Given the description of an element on the screen output the (x, y) to click on. 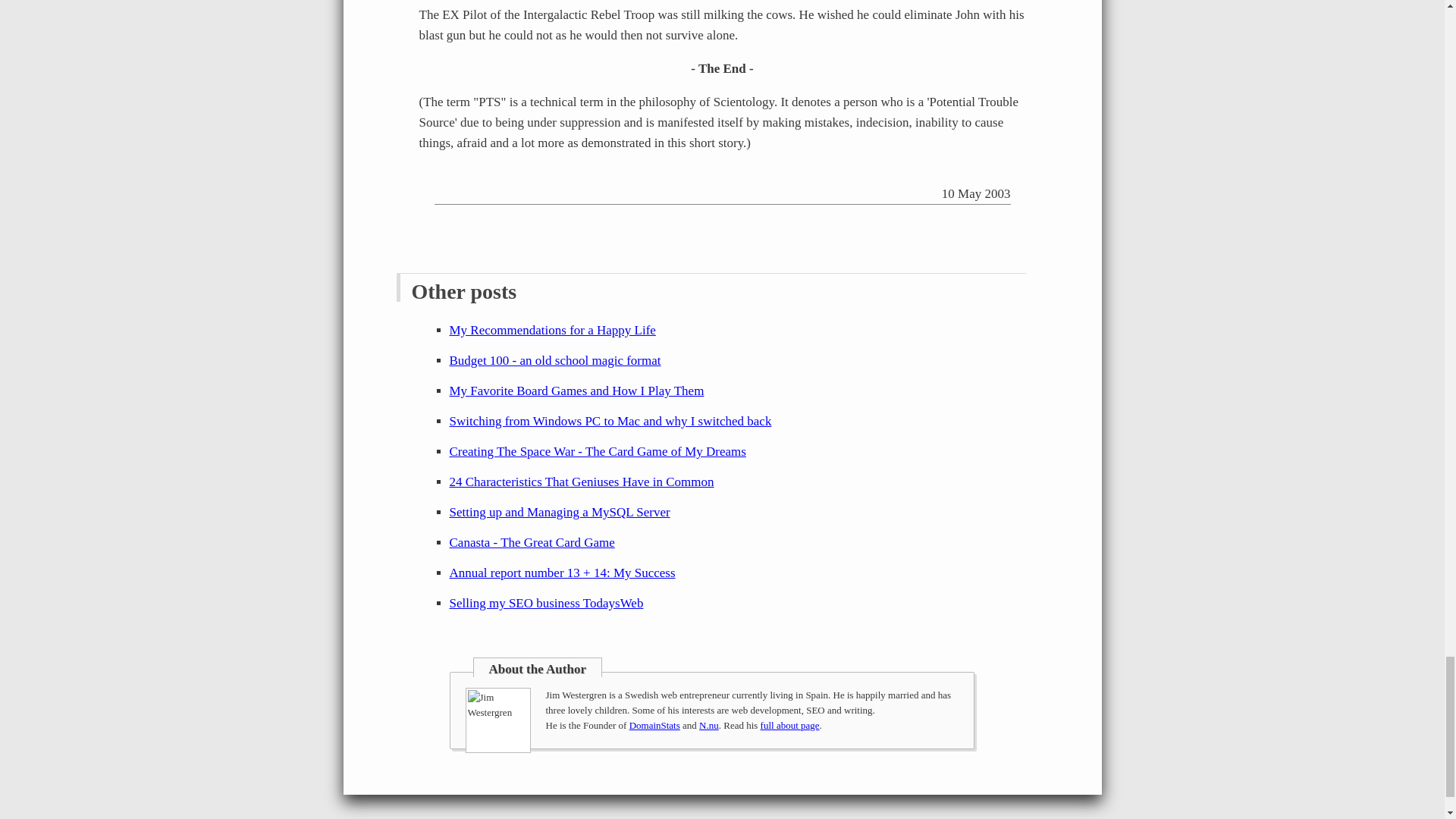
RSS (490, 189)
Creating The Space War - The Card Game of My Dreams (596, 451)
Twitter (458, 189)
N.nu (708, 725)
My Recommendations for a Happy Life (551, 329)
Facebook (443, 189)
Canasta - The Great Card Game (531, 542)
LinkedIn (475, 189)
My Favorite Board Games and How I Play Them (575, 391)
Setting up and Managing a MySQL Server (558, 512)
